Given the description of an element on the screen output the (x, y) to click on. 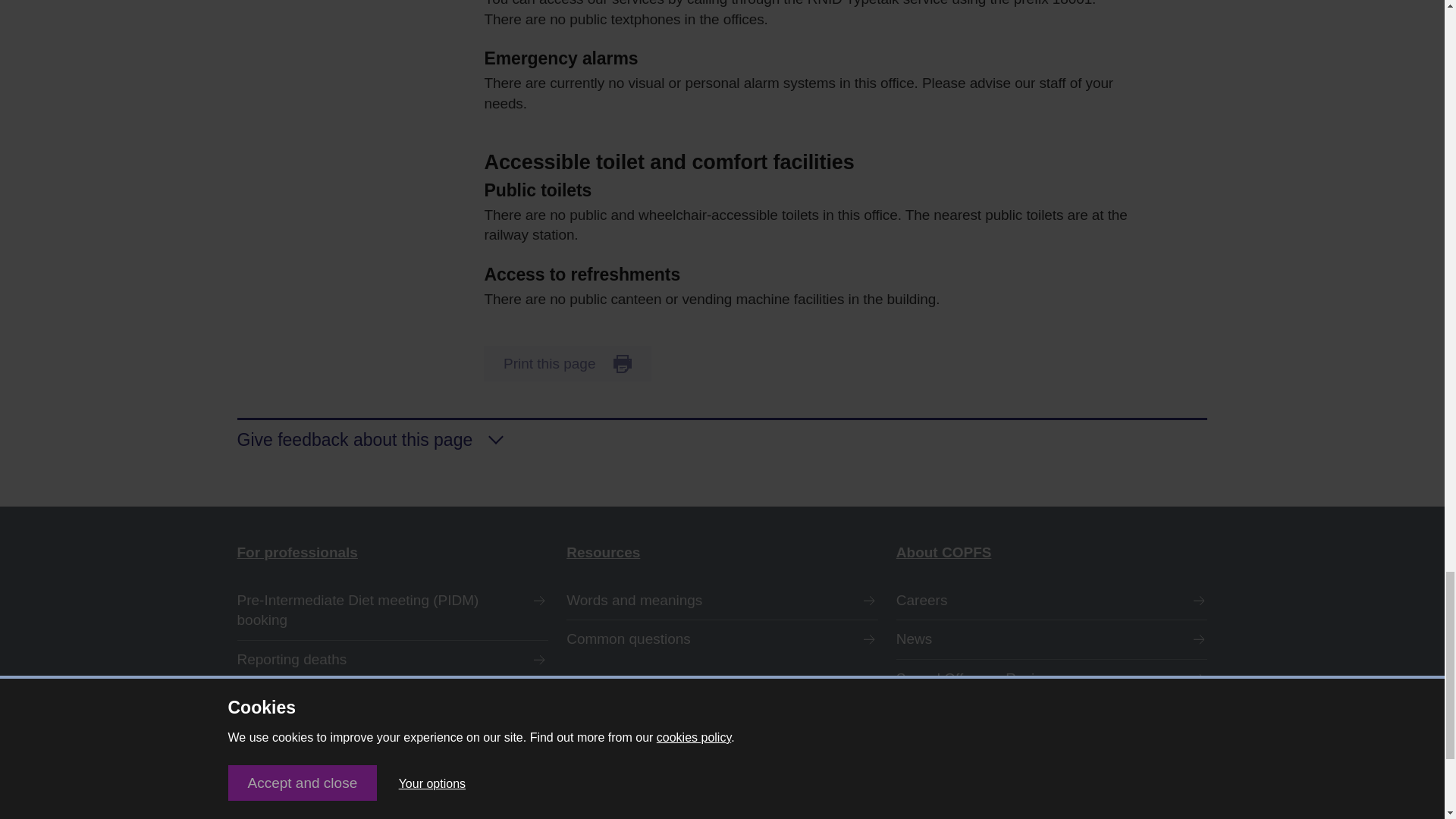
About COPFS (1052, 552)
Common questions (721, 639)
Careers (1052, 600)
Words and meanings (721, 600)
For professionals (391, 552)
Reporting deaths (391, 659)
Print this page (566, 363)
Give feedback about this page (721, 434)
Resources (721, 552)
Sexual Offences Review (1052, 679)
